Given the description of an element on the screen output the (x, y) to click on. 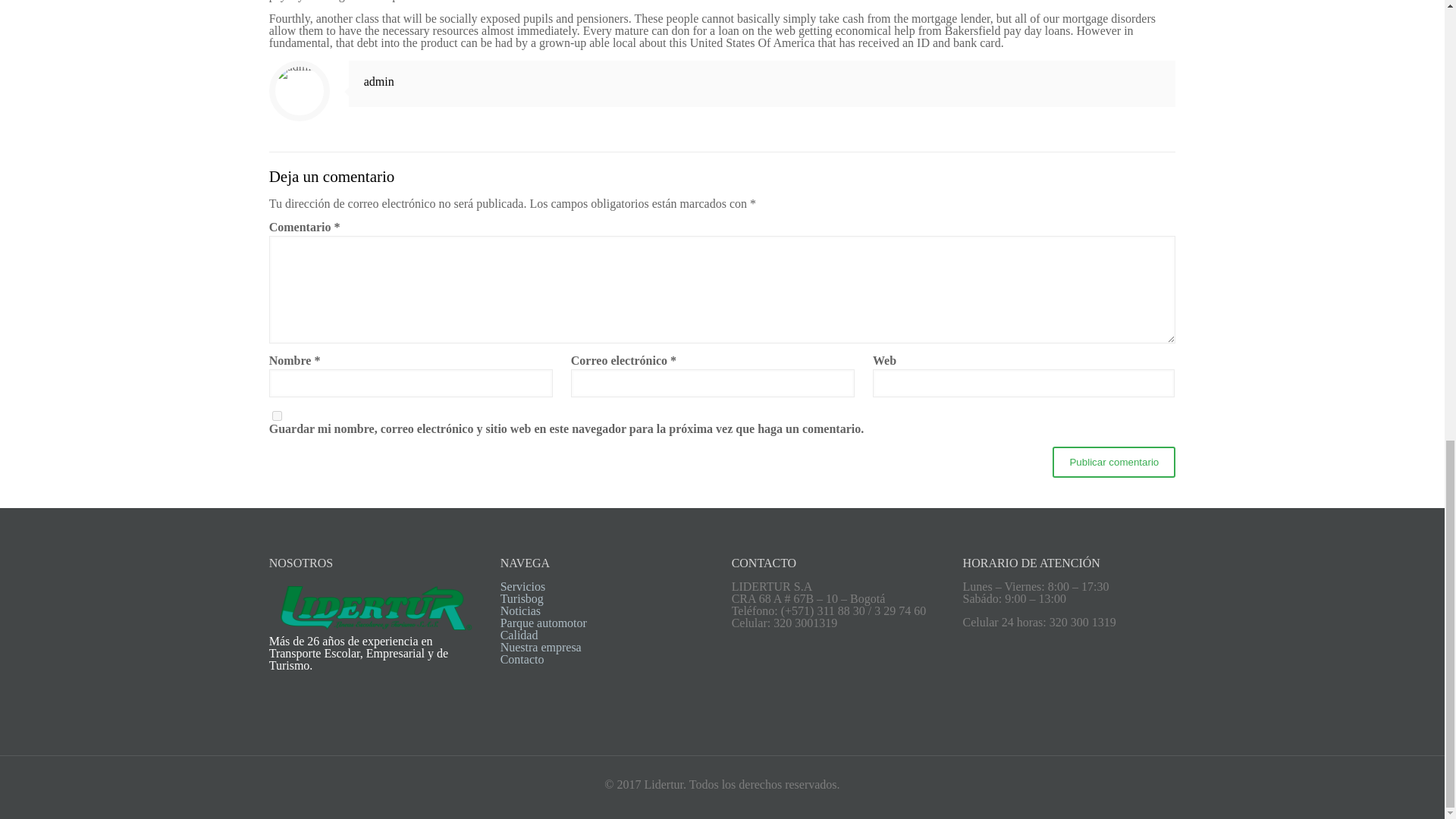
Servicios (523, 585)
yes (277, 415)
Publicar comentario (1113, 461)
Nuestra empresa (540, 646)
admin (379, 81)
Noticias (520, 610)
Publicar comentario (1113, 461)
Calidad (519, 634)
Parque automotor (543, 622)
Turisbog (521, 598)
Contacto (522, 658)
